Given the description of an element on the screen output the (x, y) to click on. 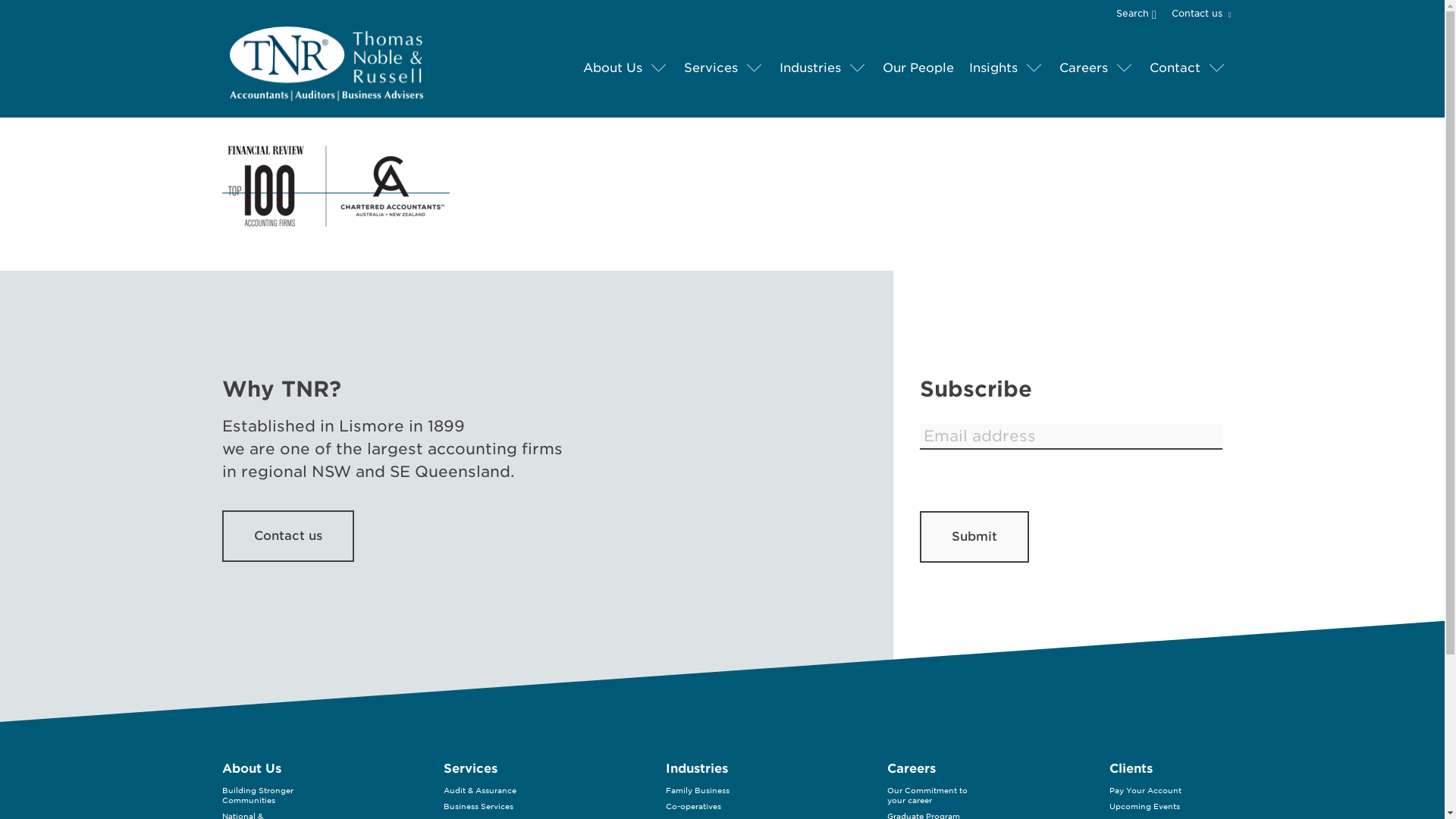
About Us (612, 68)
Careers (1082, 68)
Contact us (1198, 13)
Submit (972, 536)
Insights (993, 68)
Search (1141, 12)
Services (711, 68)
Our People (917, 68)
Industries (809, 68)
